Given the description of an element on the screen output the (x, y) to click on. 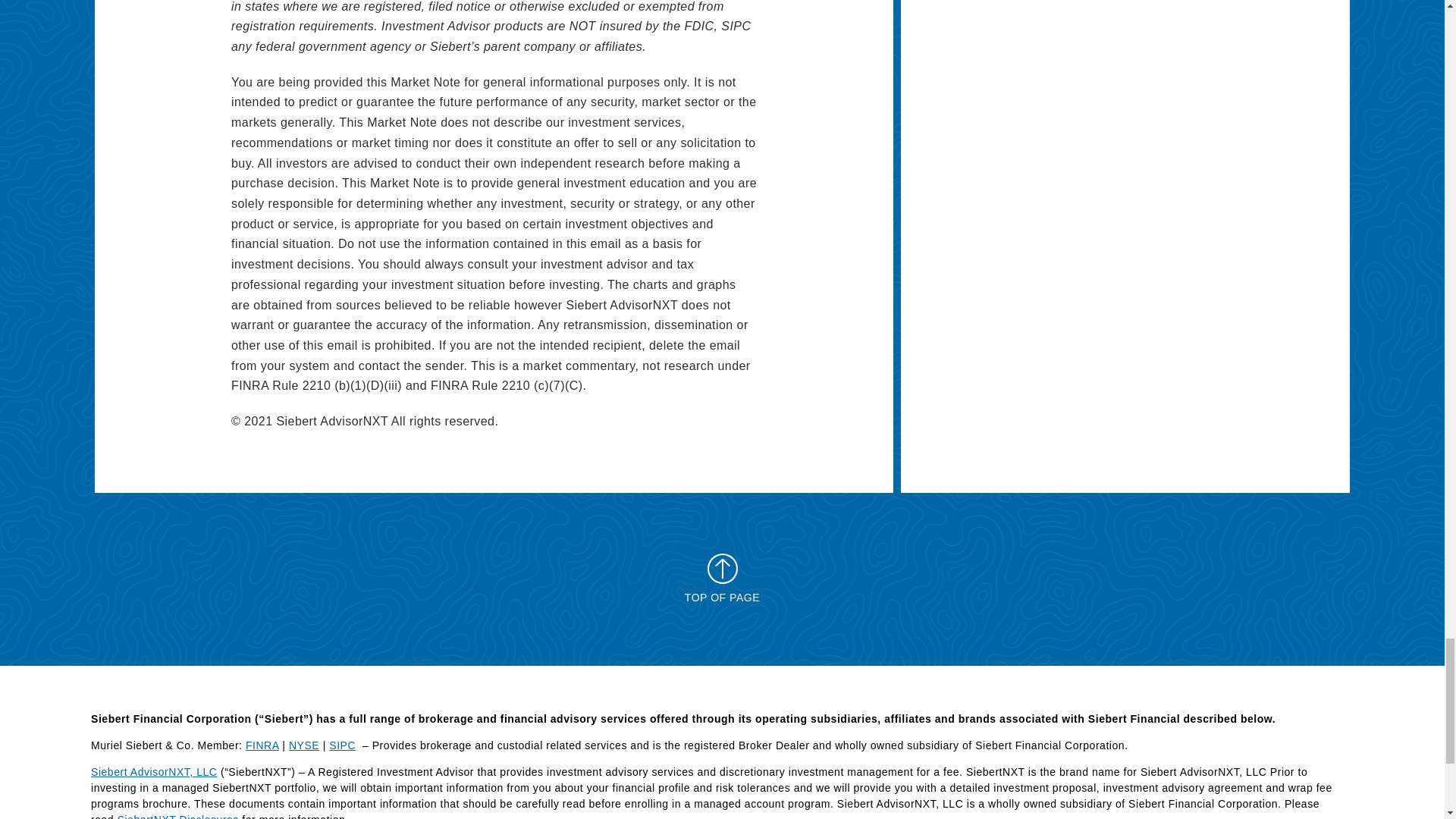
SiebertNXT Disclosures (177, 816)
NYSE (303, 745)
TOP OF PAGE (722, 578)
Siebert AdvisorNXT, LLC (153, 771)
FINRA (262, 745)
SIPC (342, 745)
